Given the description of an element on the screen output the (x, y) to click on. 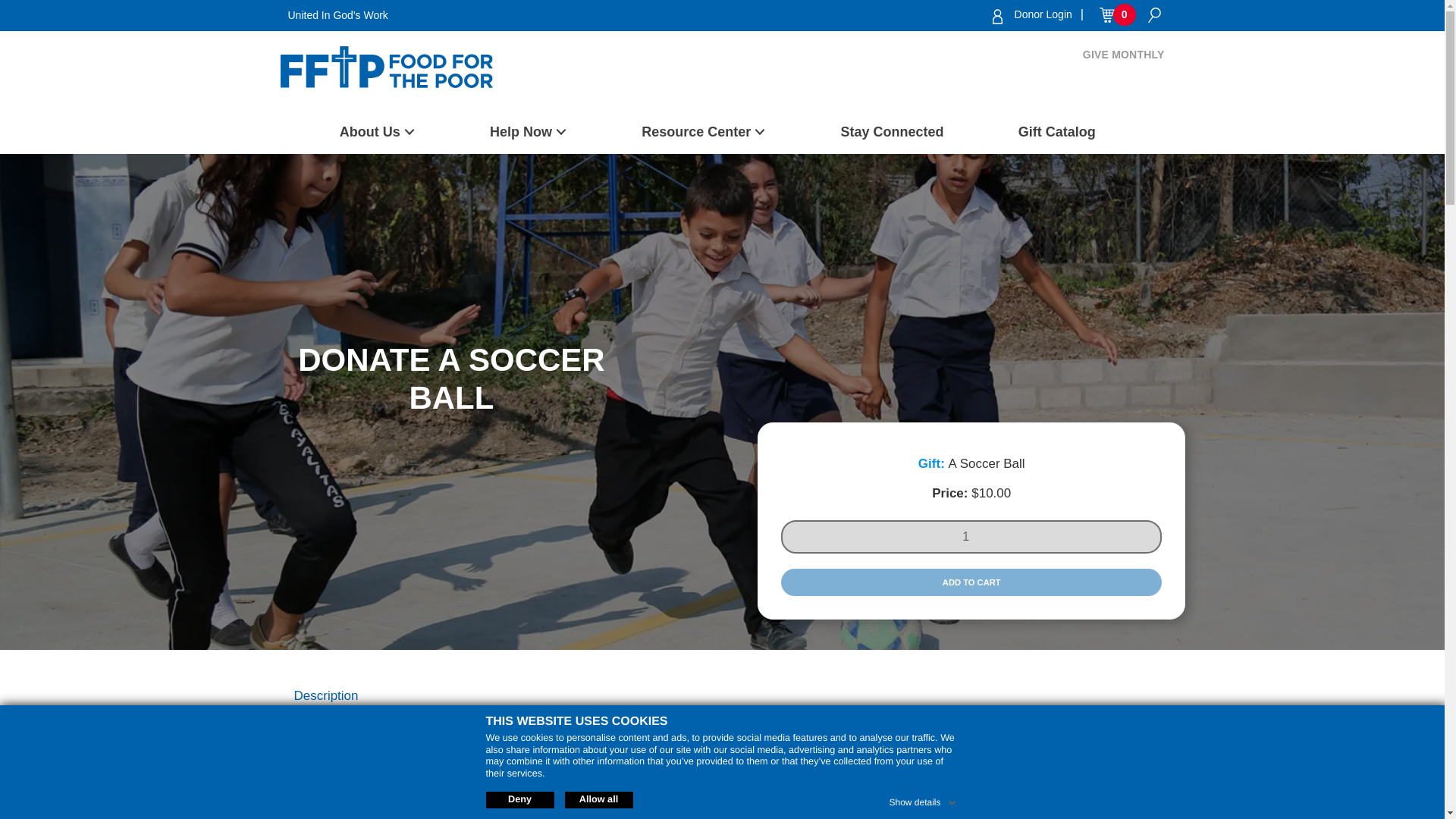
1 (970, 536)
Show details (923, 799)
Deny (518, 799)
Allow all (597, 799)
